Given the description of an element on the screen output the (x, y) to click on. 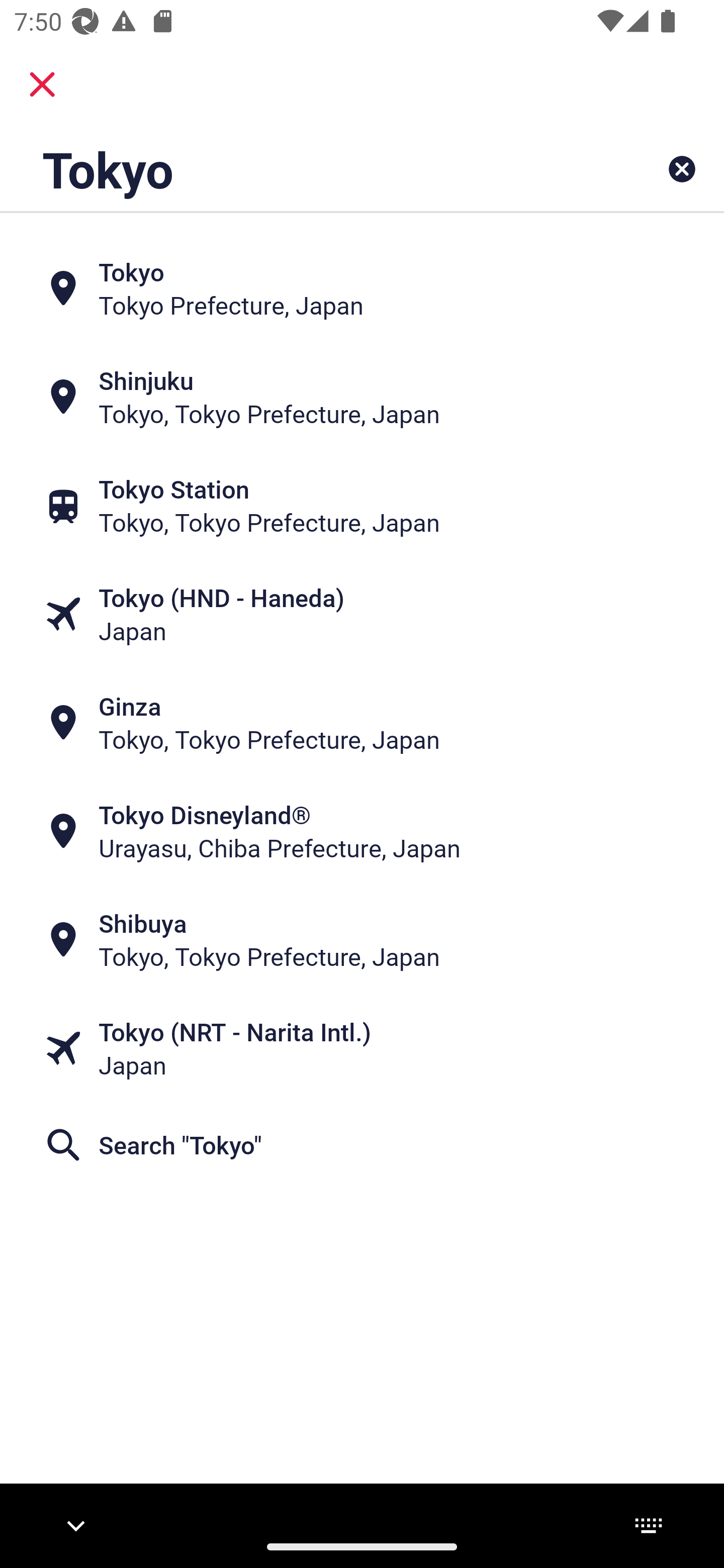
close. (42, 84)
Clear (681, 169)
Tokyo (298, 169)
Tokyo Tokyo Prefecture, Japan (362, 288)
Shinjuku Tokyo, Tokyo Prefecture, Japan (362, 397)
Tokyo Station Tokyo, Tokyo Prefecture, Japan (362, 505)
Tokyo (HND - Haneda) Japan (362, 613)
Ginza Tokyo, Tokyo Prefecture, Japan (362, 722)
Tokyo Disneyland® Urayasu, Chiba Prefecture, Japan (362, 831)
Shibuya Tokyo, Tokyo Prefecture, Japan (362, 939)
Tokyo (NRT - Narita Intl.) Japan (362, 1048)
Search "Tokyo" (362, 1144)
